Given the description of an element on the screen output the (x, y) to click on. 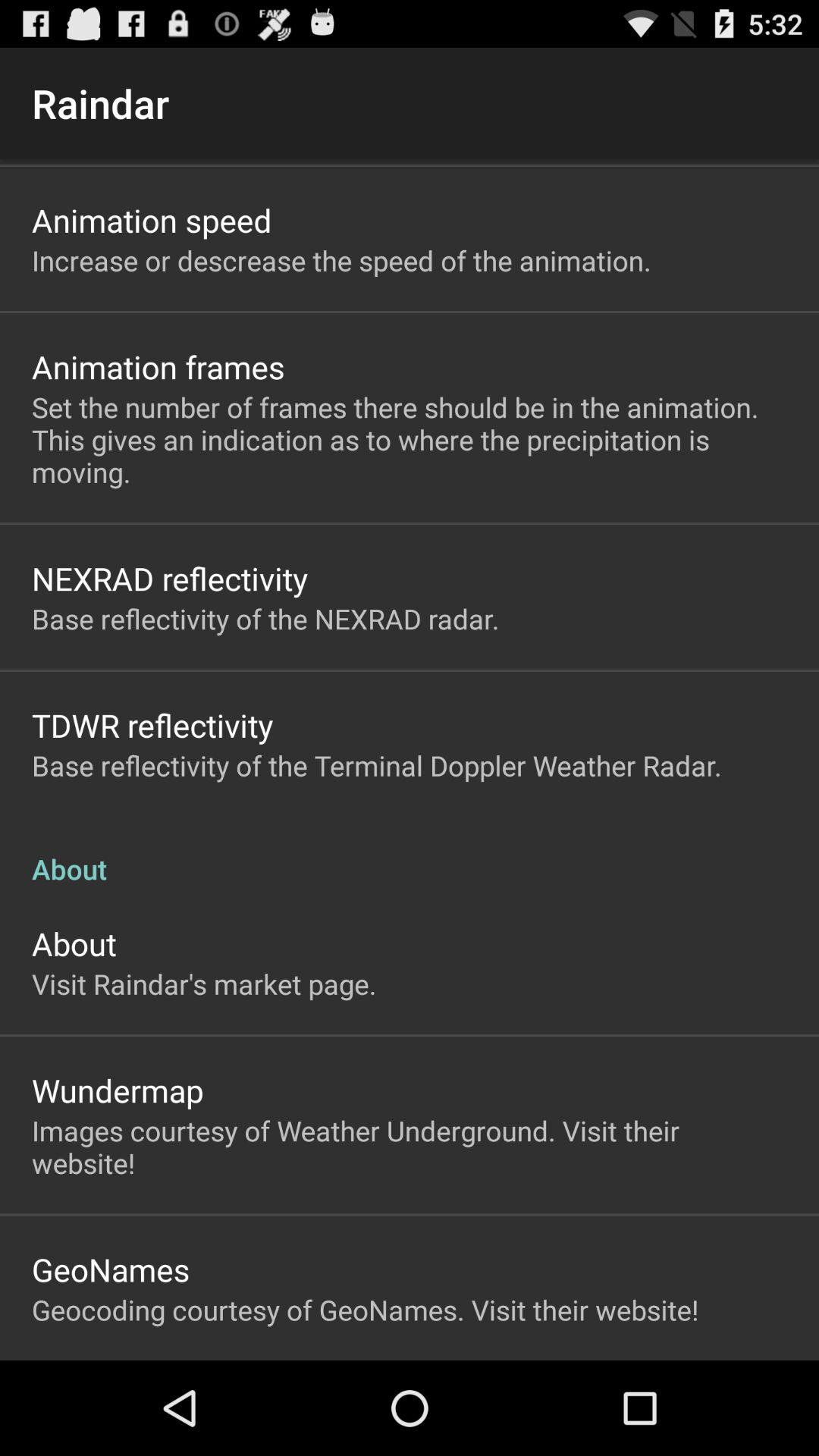
click app above the nexrad reflectivity (409, 439)
